Given the description of an element on the screen output the (x, y) to click on. 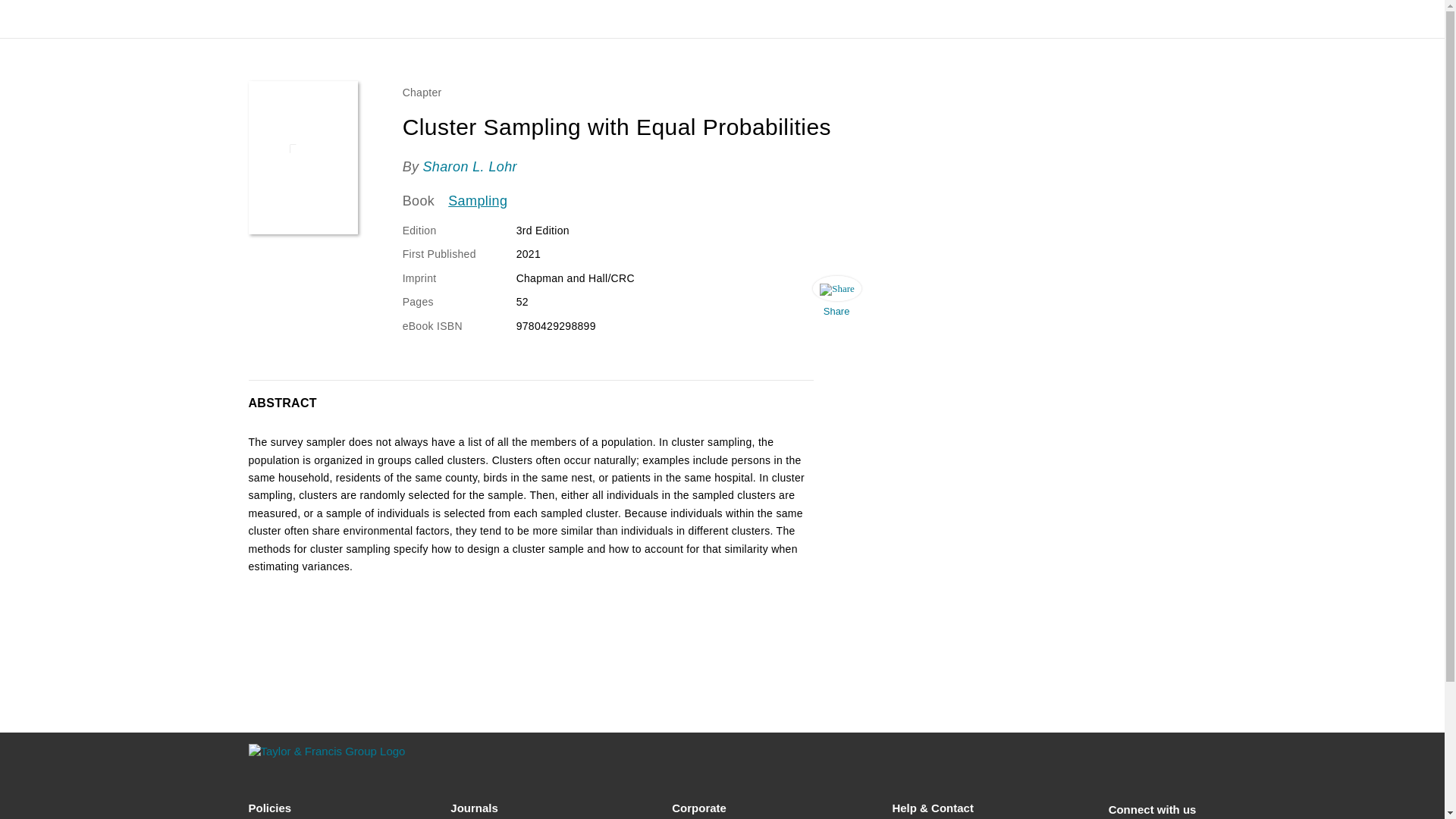
Sharon L. Lohr (469, 166)
Share (836, 299)
Sampling (477, 201)
